Given the description of an element on the screen output the (x, y) to click on. 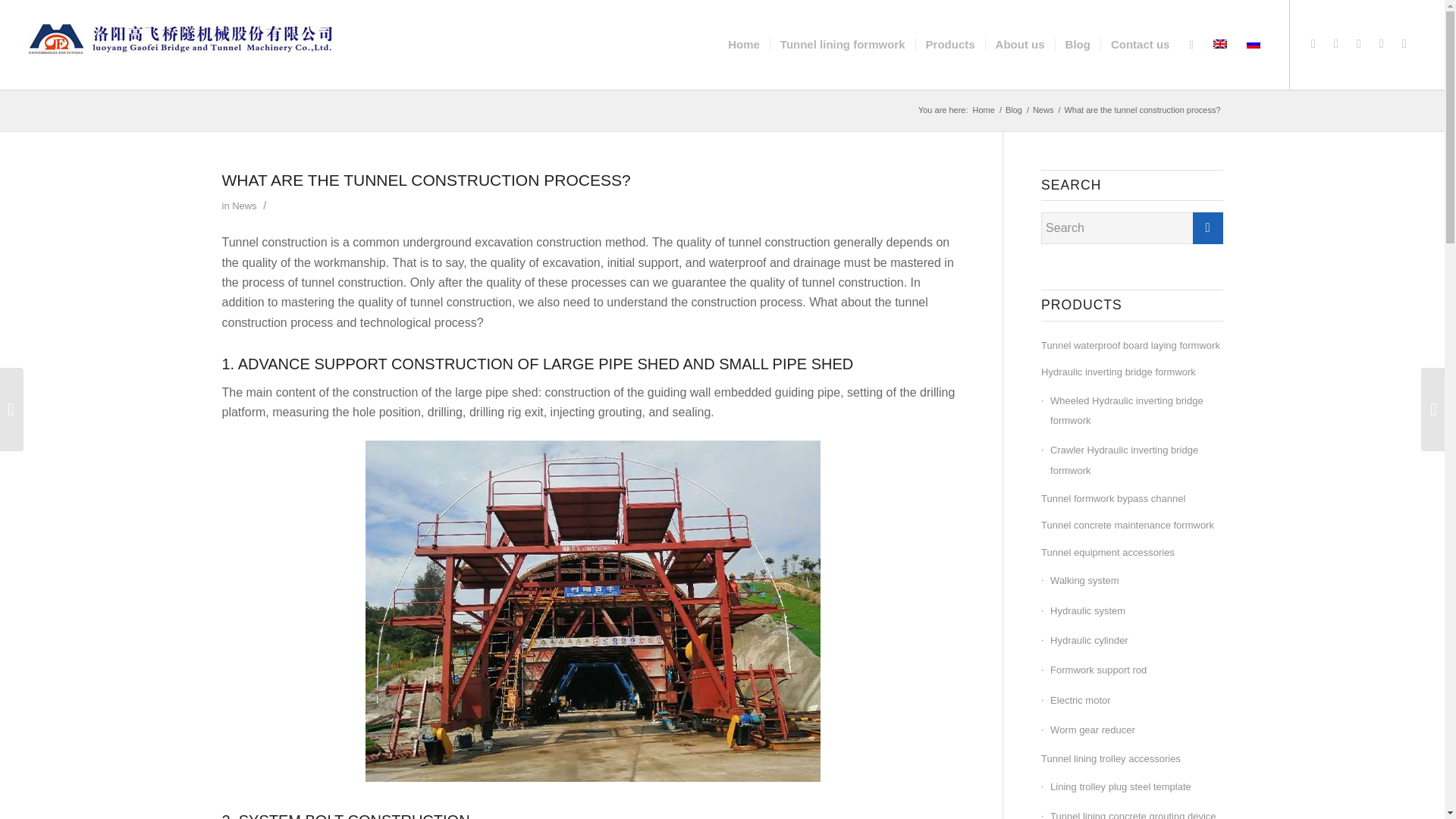
English (1219, 43)
Blog (1014, 110)
Contact us (1139, 44)
Mail (1312, 43)
Blog (1014, 110)
Permanent Link: What are the tunnel construction process? (425, 180)
Linkedin (1359, 43)
Home (984, 110)
WHAT ARE THE TUNNEL CONSTRUCTION PROCESS? (425, 180)
News (1043, 110)
News (243, 205)
Twitter (1336, 43)
Tumblr (1381, 43)
Tunnel lining formwork (842, 44)
Facebook (1404, 43)
